Given the description of an element on the screen output the (x, y) to click on. 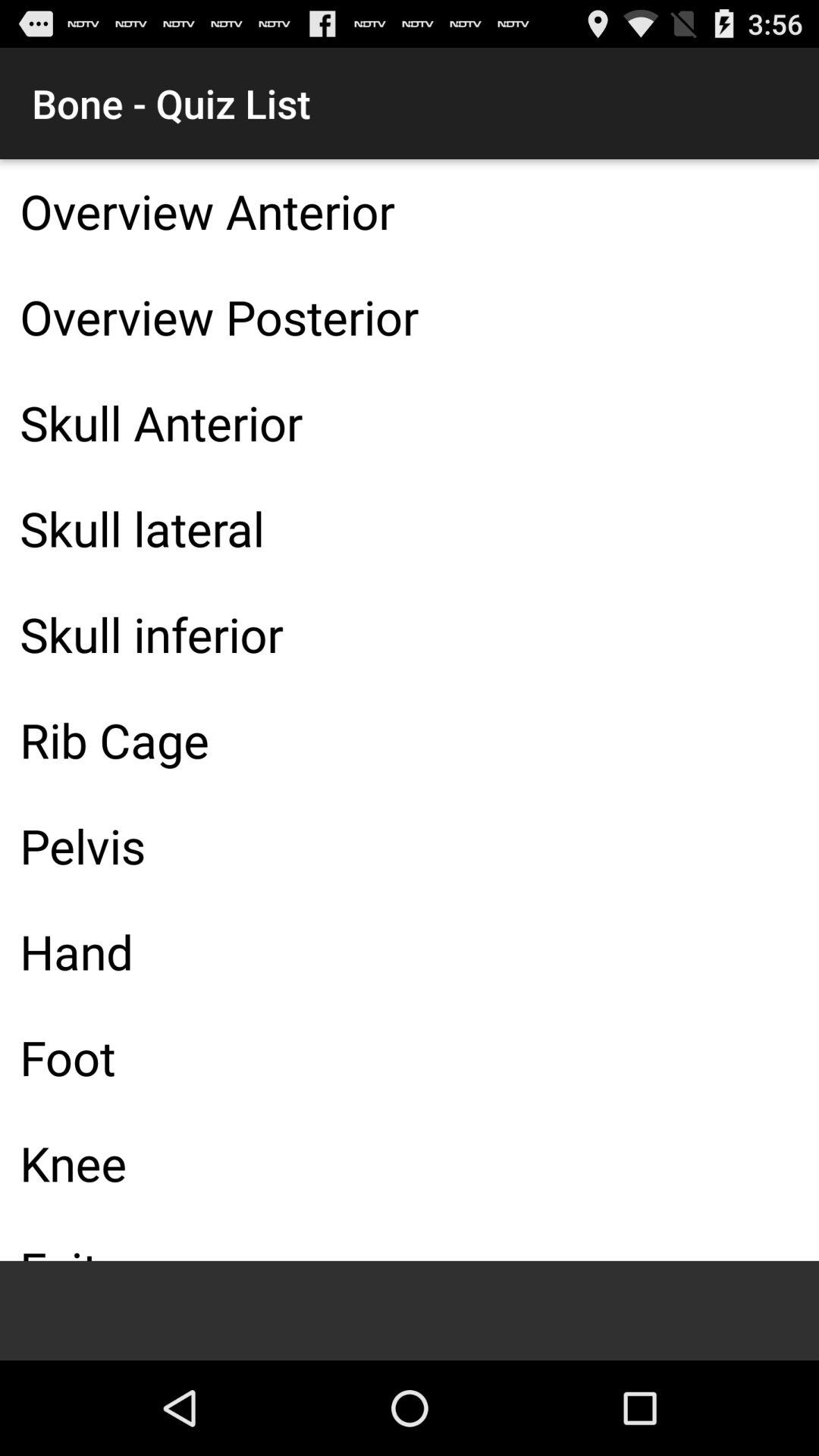
open the overview posterior icon (409, 316)
